Given the description of an element on the screen output the (x, y) to click on. 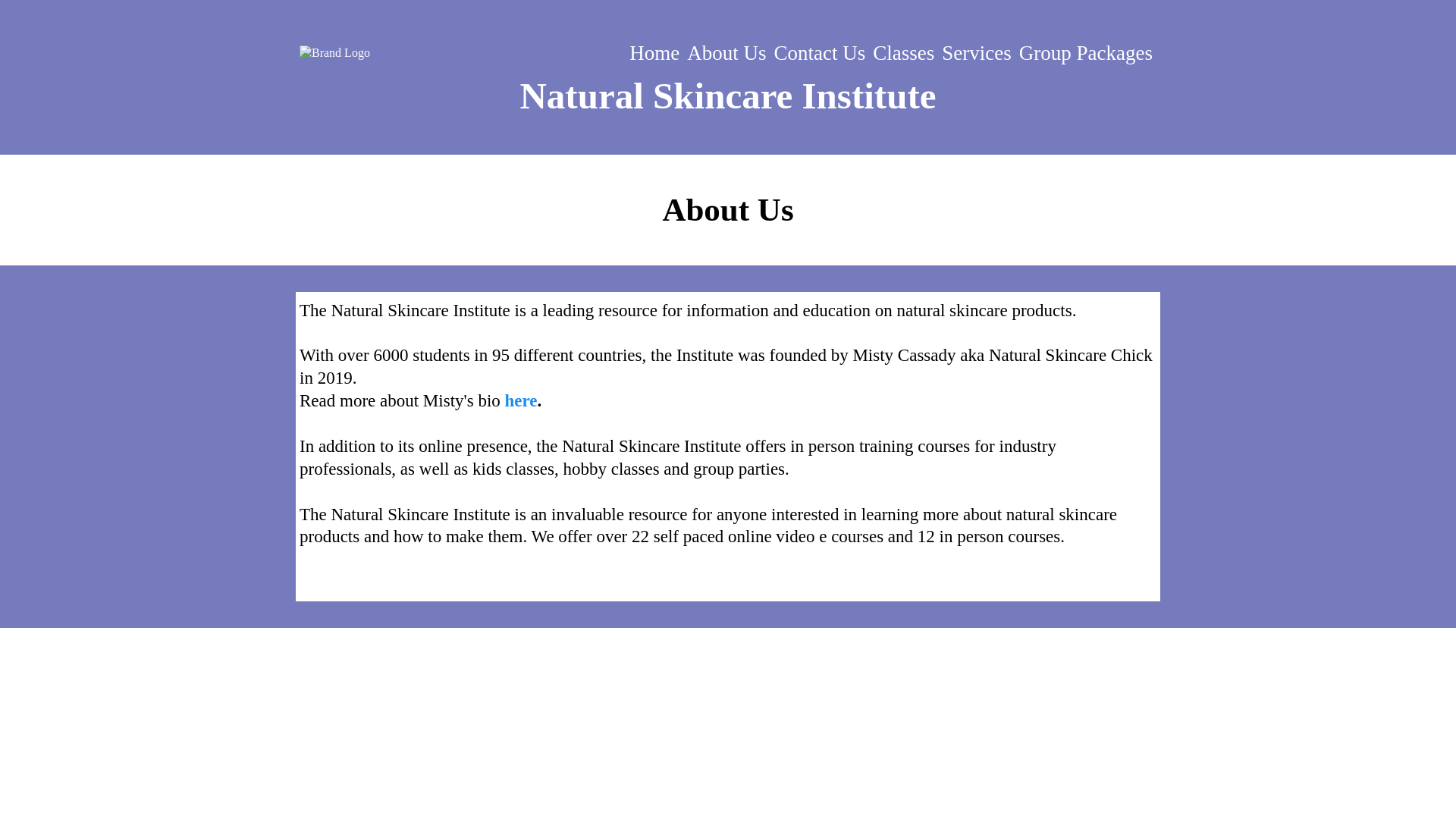
About Us (726, 53)
Contact Us (819, 53)
here (521, 400)
Group Packages (1085, 53)
Services (975, 53)
Home (654, 53)
Classes (903, 53)
